Given the description of an element on the screen output the (x, y) to click on. 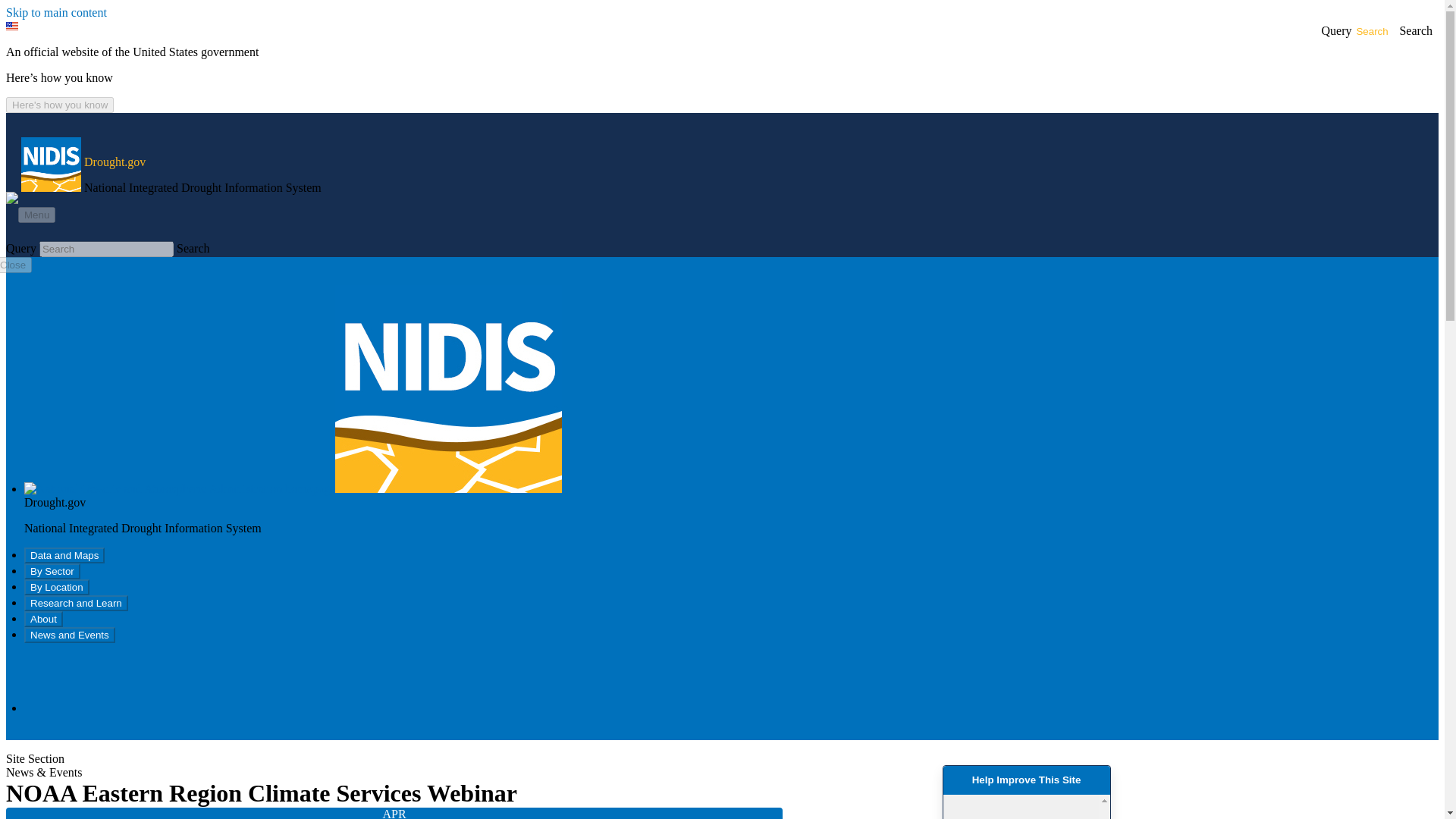
Drought.gov (114, 161)
Menu (36, 214)
By Sector (52, 571)
Data and Maps (64, 555)
Close (16, 264)
News and Events (69, 634)
Skip to main content (55, 11)
Here's how you know (59, 105)
